Given the description of an element on the screen output the (x, y) to click on. 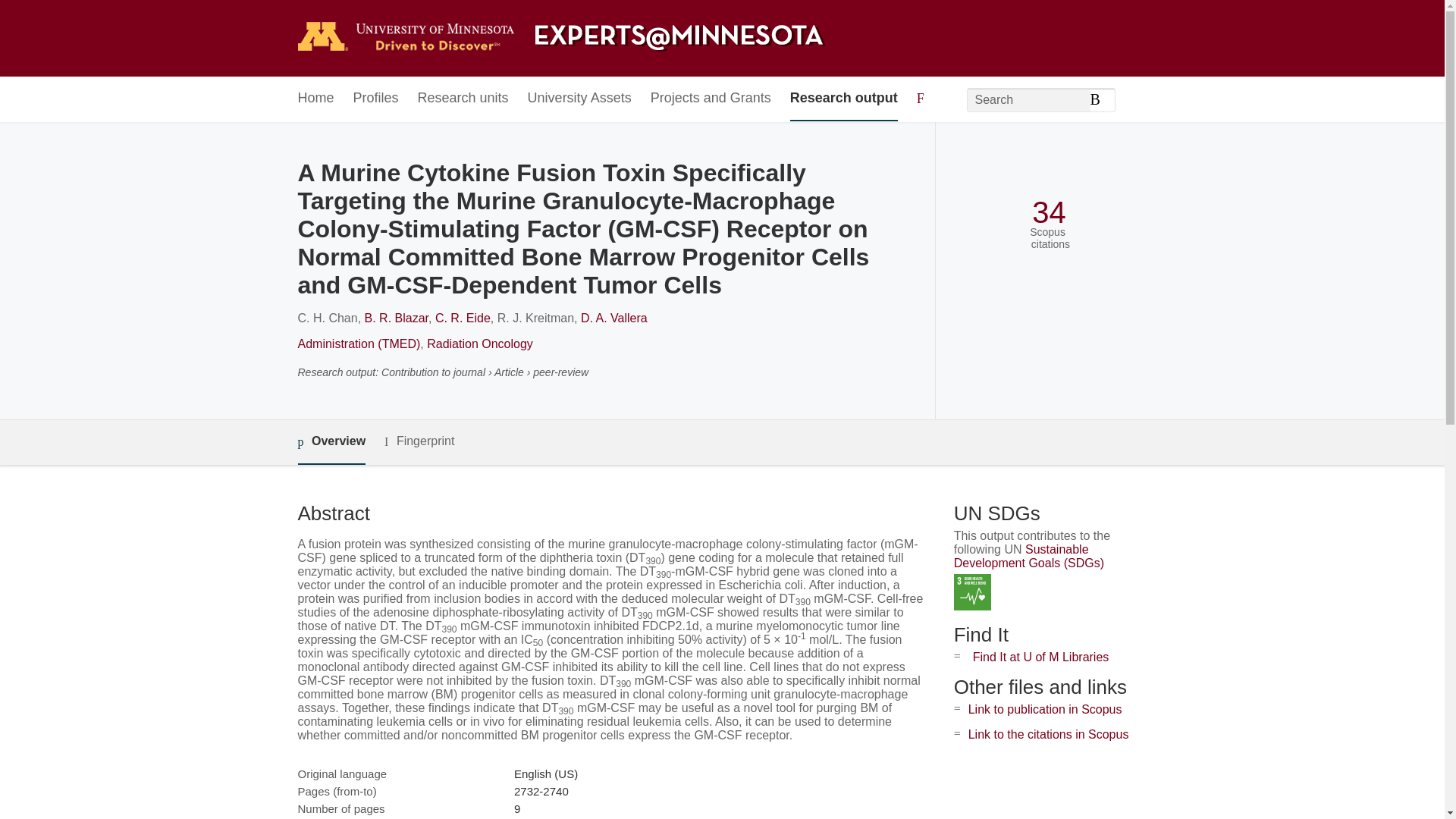
Research output (844, 98)
Overview (331, 442)
Research units (462, 98)
C. R. Eide (462, 318)
B. R. Blazar (396, 318)
Link to publication in Scopus (1045, 708)
Radiation Oncology (479, 343)
Find It at U of M Libraries (1040, 656)
34 (1048, 212)
Link to the citations in Scopus (1048, 734)
Projects and Grants (710, 98)
University Assets (579, 98)
Fingerprint (419, 441)
Profiles (375, 98)
